Given the description of an element on the screen output the (x, y) to click on. 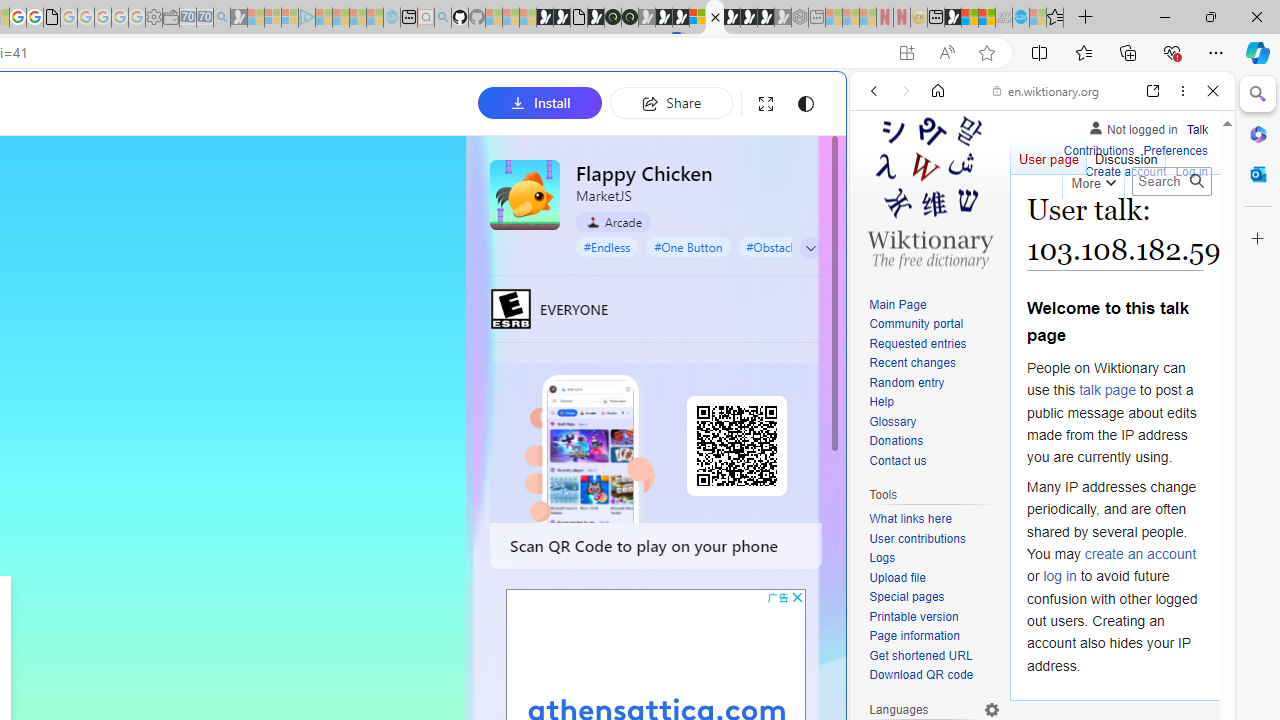
App available. Install Flappy Chicken (906, 53)
Not logged in (1132, 126)
Play Cave FRVR in your browser | Games from Microsoft Start (343, 426)
Search Wiktionary (1171, 181)
Discussion (1125, 154)
Tabs you've opened (276, 265)
create an account (1140, 553)
Download QR code (921, 675)
Special pages (934, 597)
Forward (906, 91)
Preferences (1175, 148)
